Given the description of an element on the screen output the (x, y) to click on. 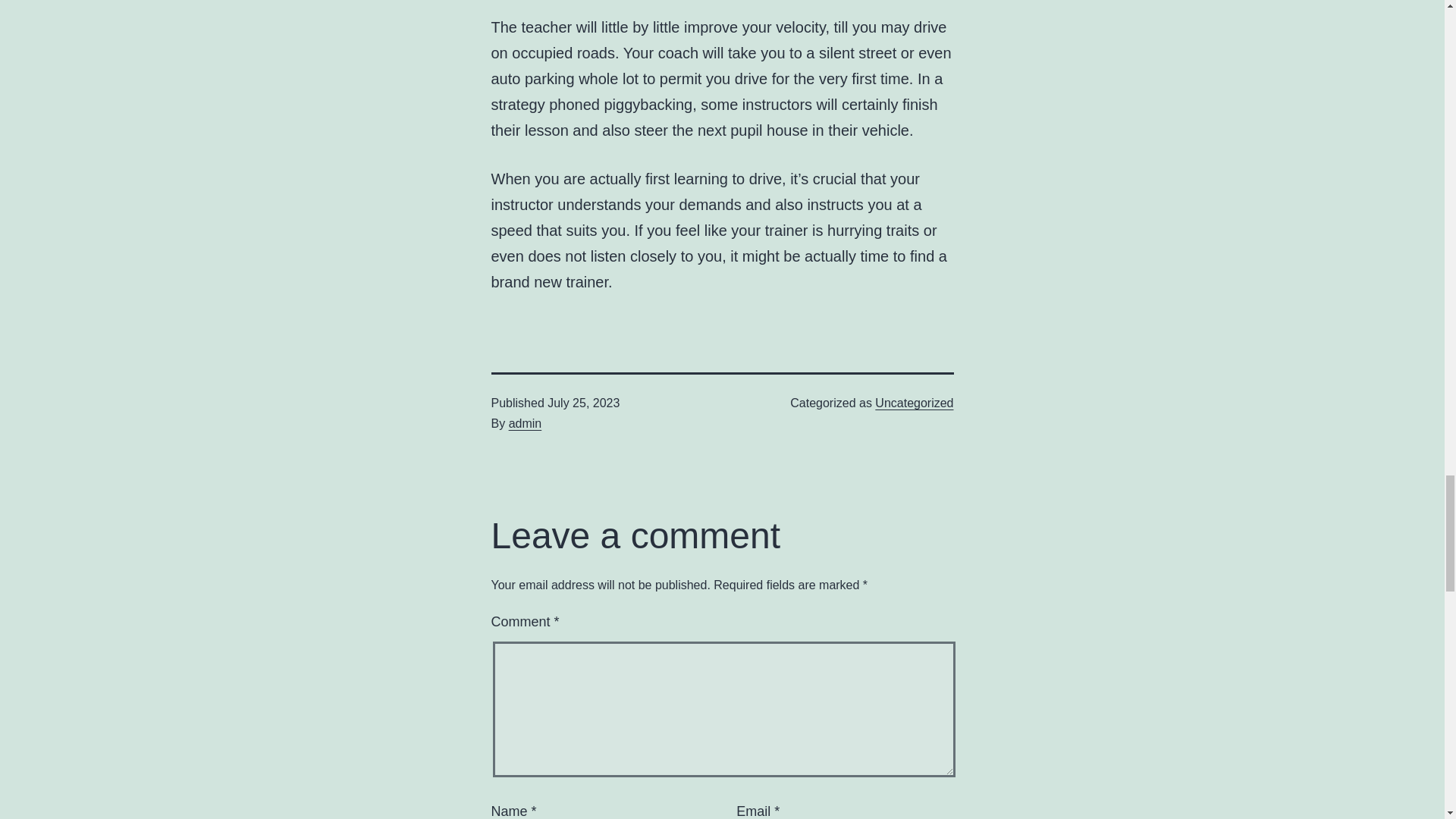
Uncategorized (914, 402)
admin (524, 422)
